Given the description of an element on the screen output the (x, y) to click on. 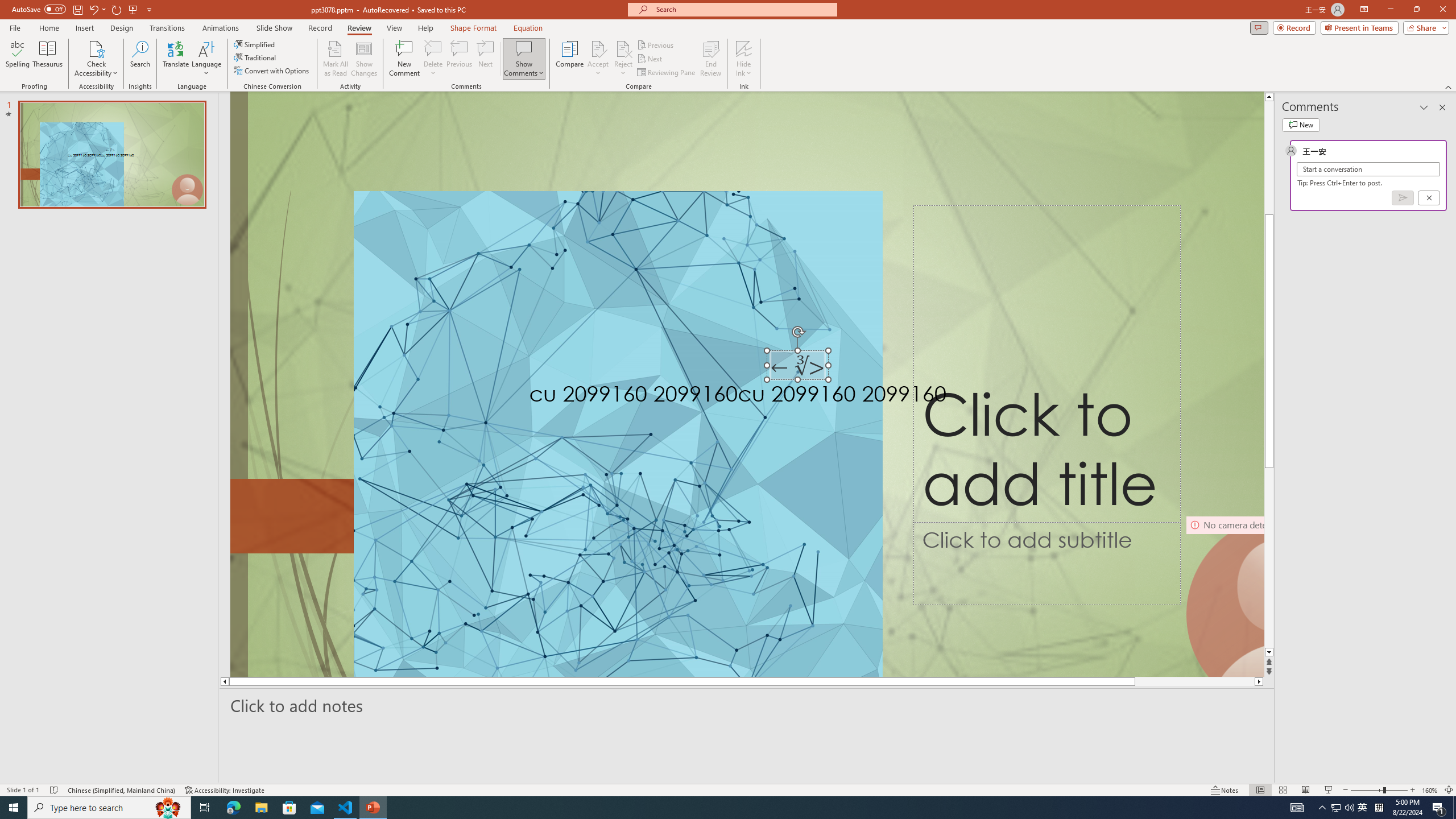
Compare (569, 58)
TextBox 61 (807, 396)
Show Changes (363, 58)
Subtitle TextBox (1046, 563)
